Given the description of an element on the screen output the (x, y) to click on. 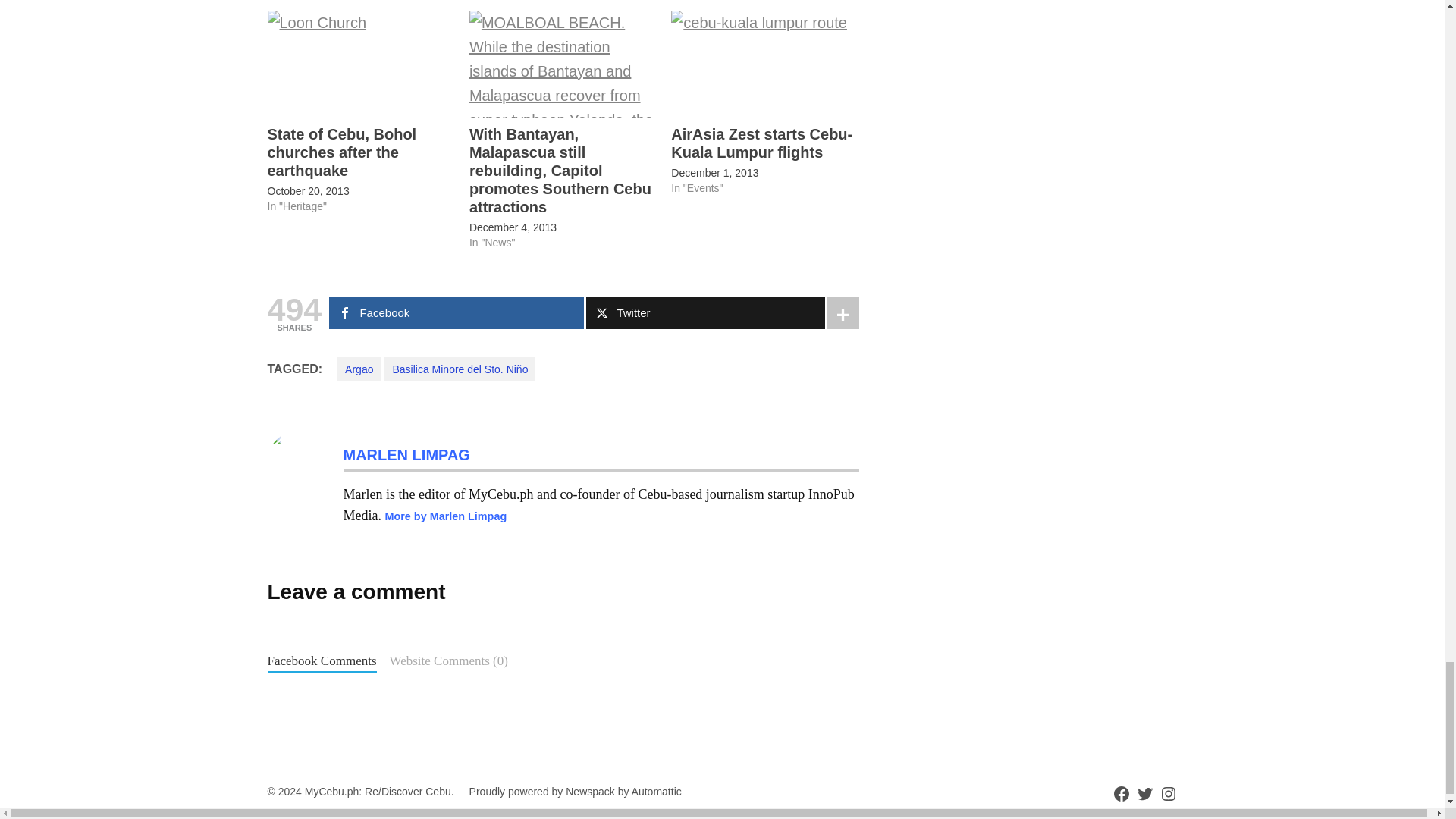
State of Cebu, Bohol churches after the earthquake (341, 152)
AirAsia Zest starts Cebu-Kuala Lumpur flights (764, 63)
AirAsia Zest starts Cebu-Kuala Lumpur flights (761, 143)
State of Cebu, Bohol churches after the earthquake (359, 63)
